Given the description of an element on the screen output the (x, y) to click on. 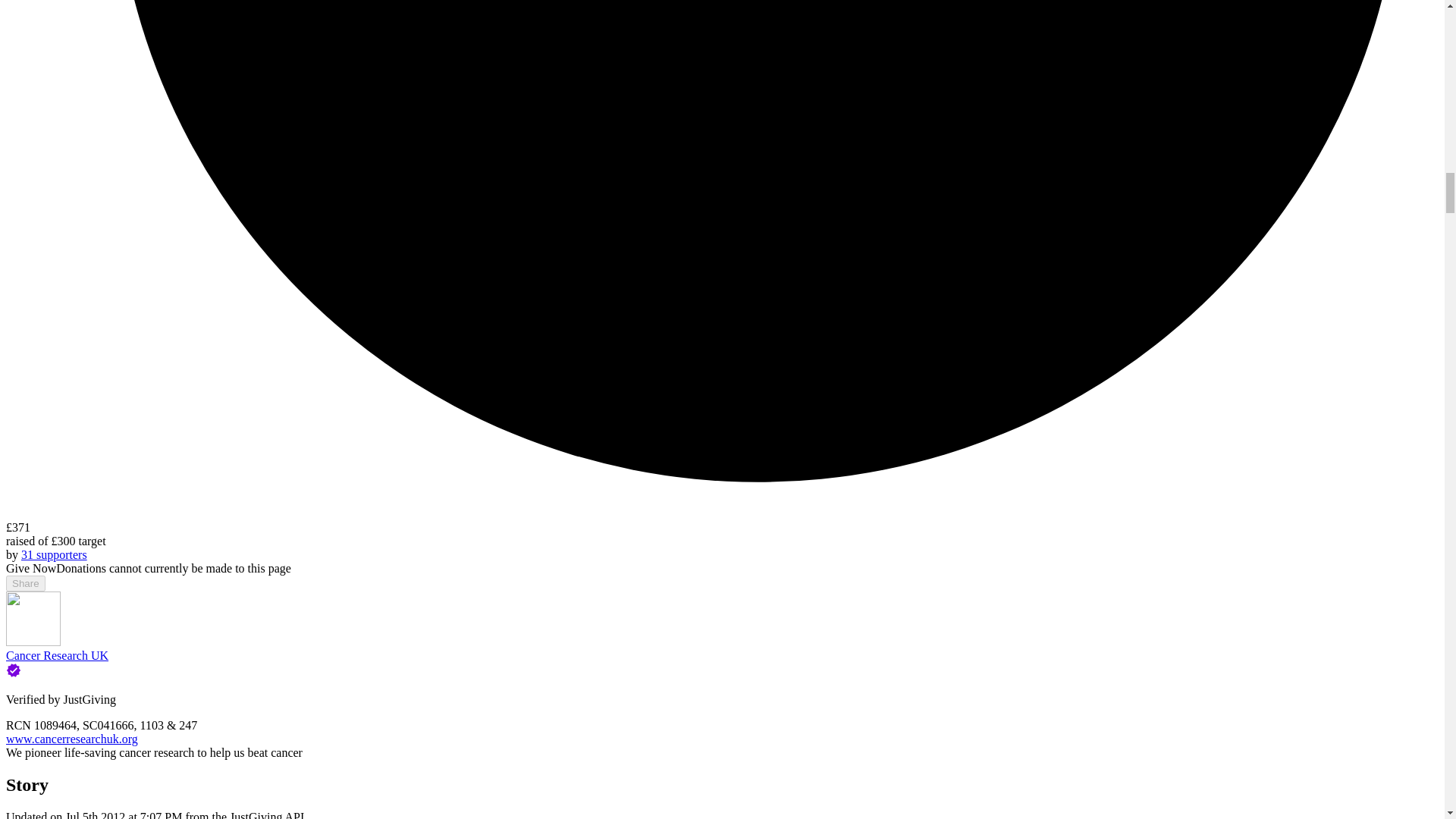
Cancer Research UK (56, 655)
www.cancerresearchuk.org (71, 738)
31 supporters (54, 554)
Share (25, 583)
